Given the description of an element on the screen output the (x, y) to click on. 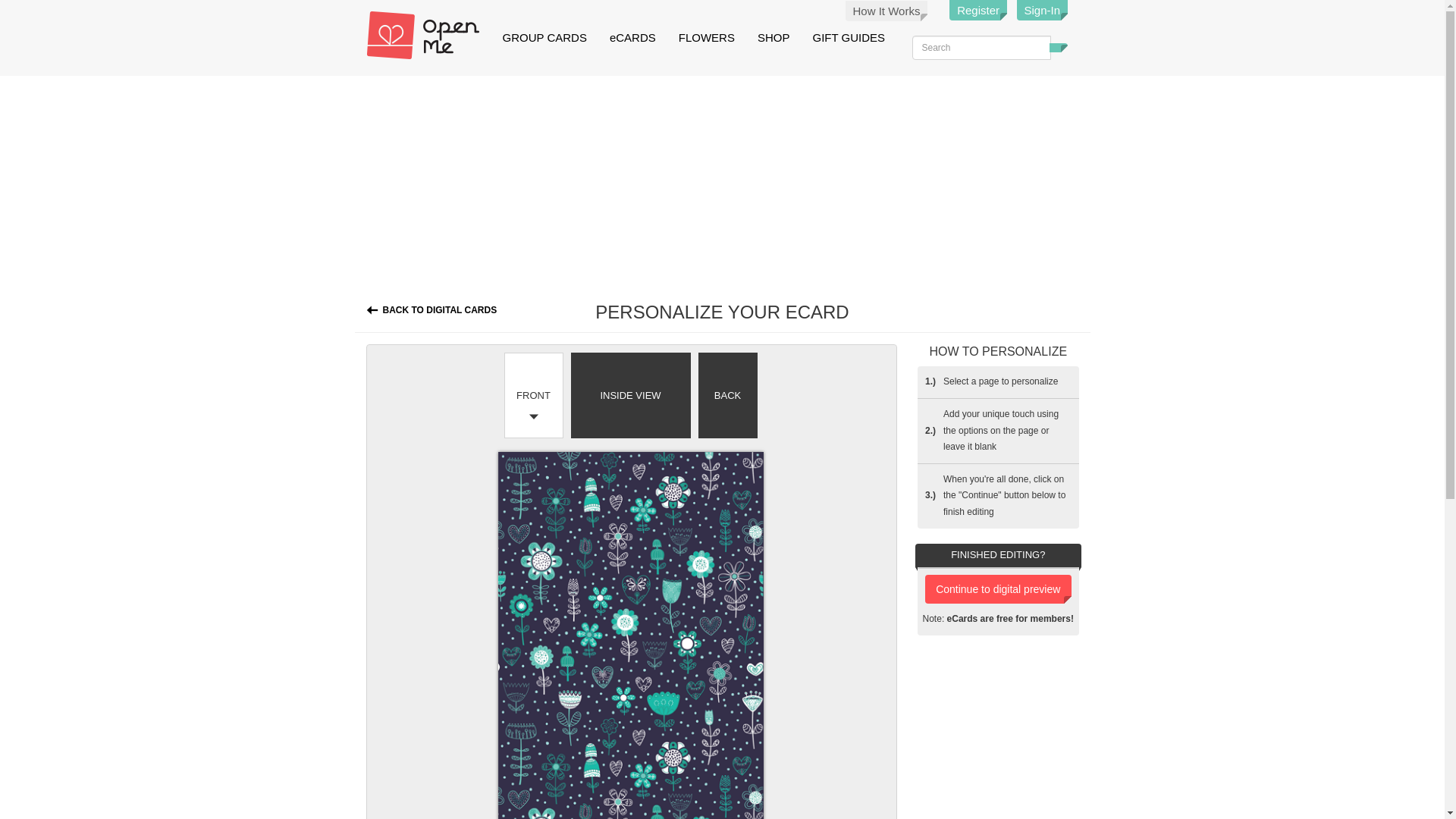
Enter the terms you wish to search for. (980, 47)
FLOWERS (705, 38)
Home (427, 34)
GIFT GUIDES (848, 38)
GROUP CARDS (545, 38)
eCARDS (632, 38)
